Given the description of an element on the screen output the (x, y) to click on. 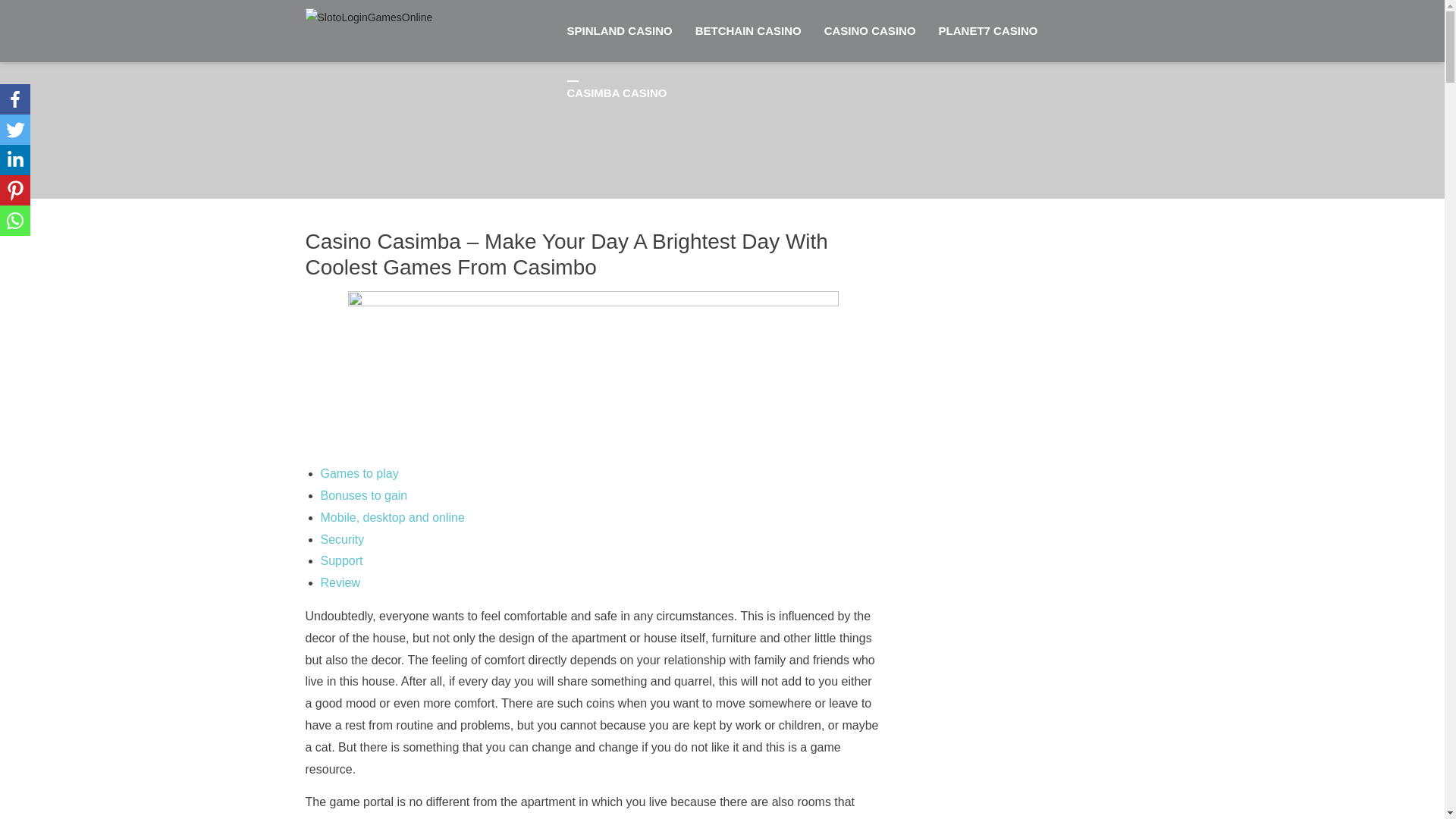
SPINLAND CASINO (618, 31)
CASIMBA CASINO (616, 93)
Bonuses to gain (363, 495)
Pinterest (15, 190)
Whatsapp (15, 220)
BETCHAIN CASINO (748, 31)
Security (342, 539)
Mobile, desktop and online (392, 517)
Facebook (15, 99)
Games to play (358, 472)
